Given the description of an element on the screen output the (x, y) to click on. 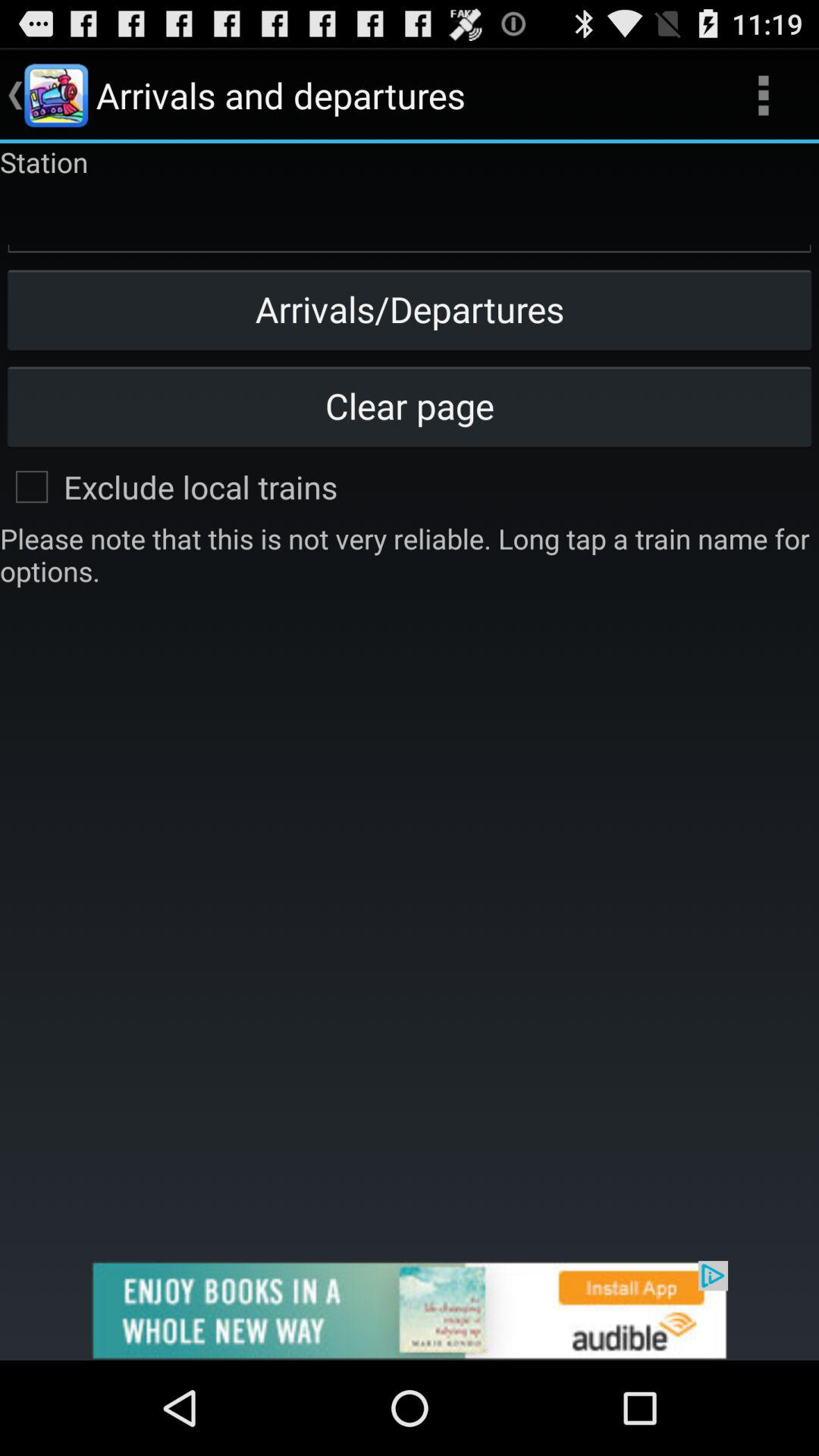
visit advertisement (409, 1310)
